Given the description of an element on the screen output the (x, y) to click on. 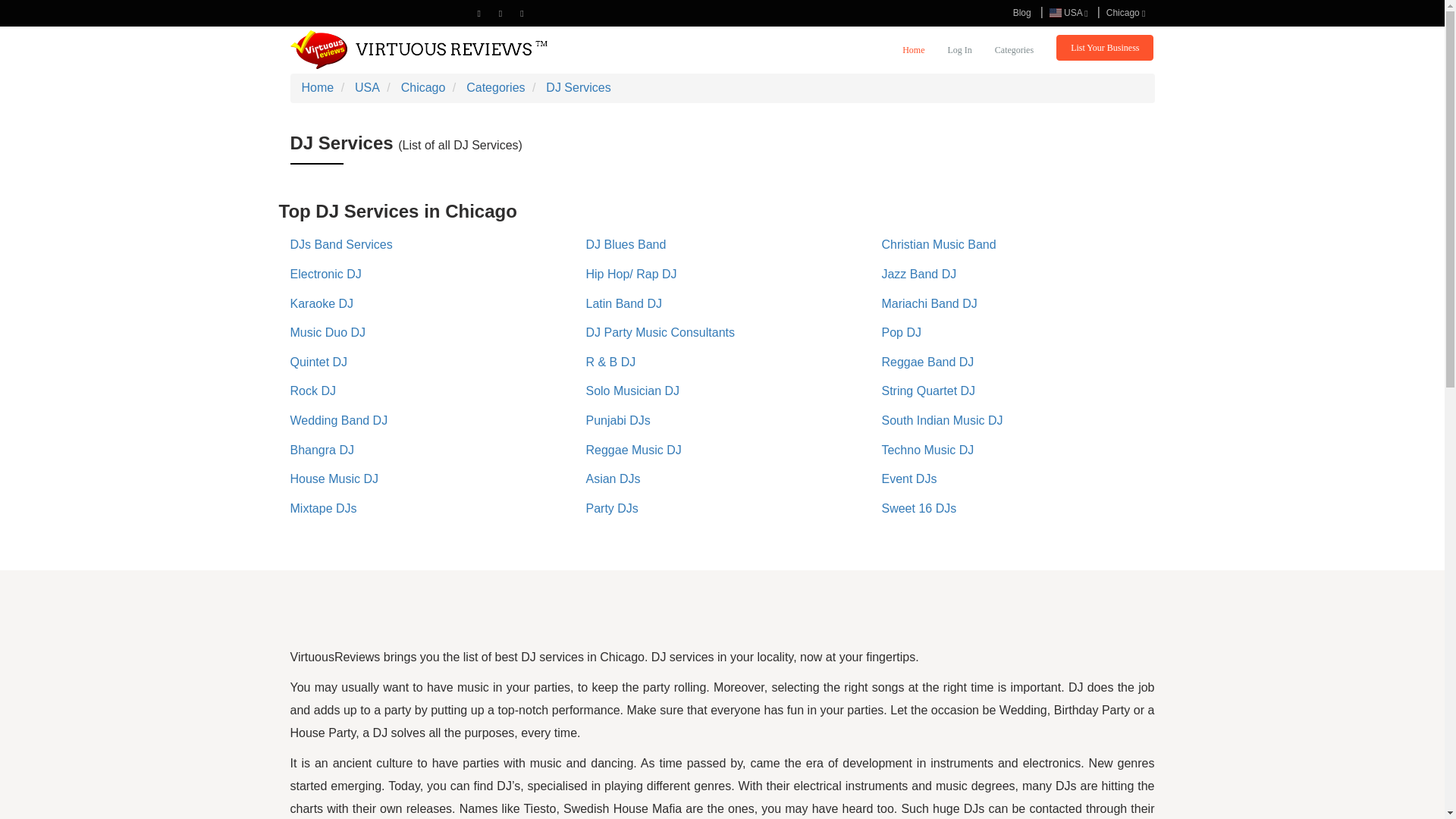
USA (1069, 12)
The Official Virtuous Reviews Blog (1022, 12)
Blog (1022, 12)
select city (1125, 12)
Chicago (1125, 12)
Virtuous Reviews (418, 49)
